Given the description of an element on the screen output the (x, y) to click on. 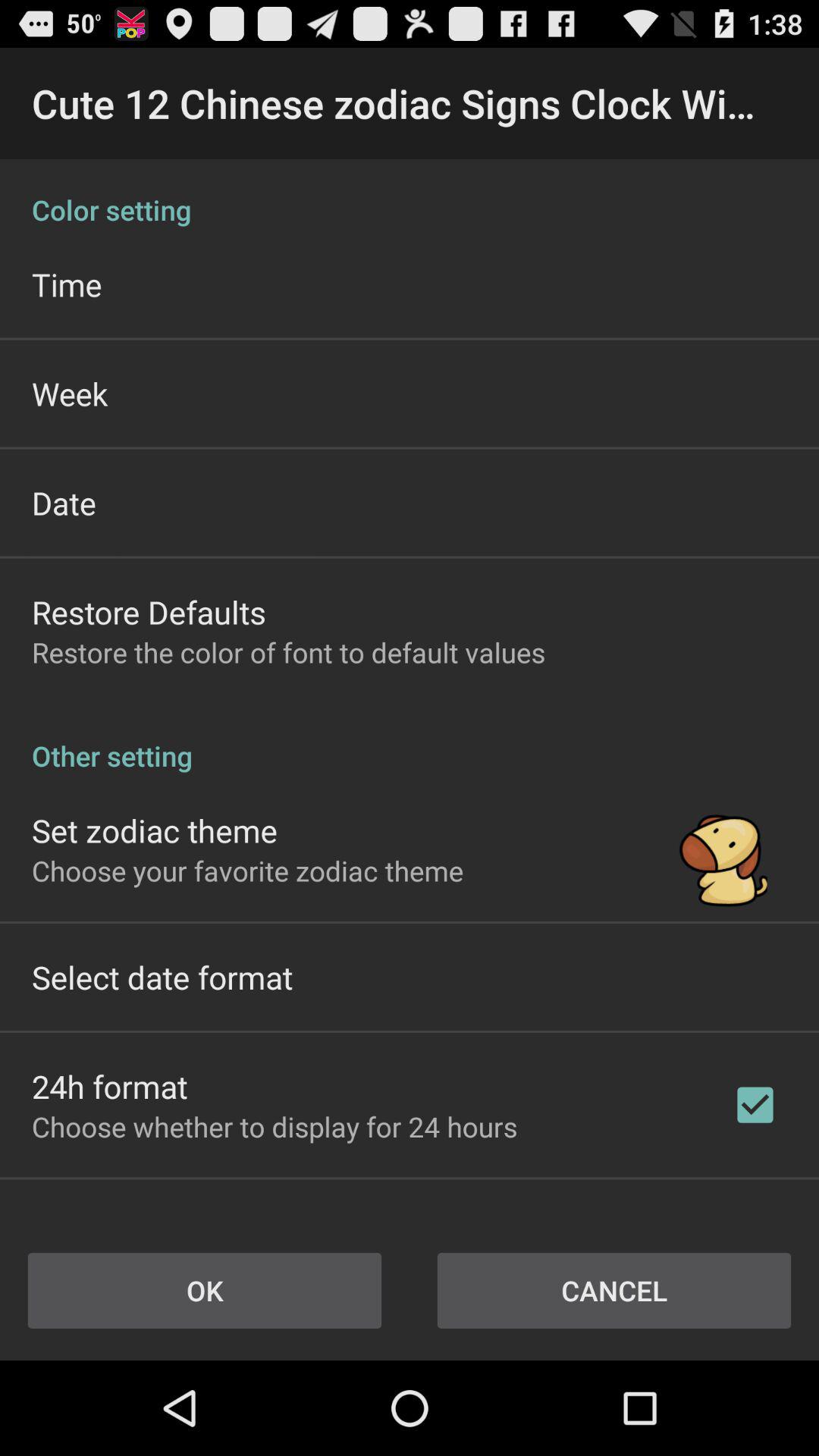
flip until choose your favorite (247, 870)
